Given the description of an element on the screen output the (x, y) to click on. 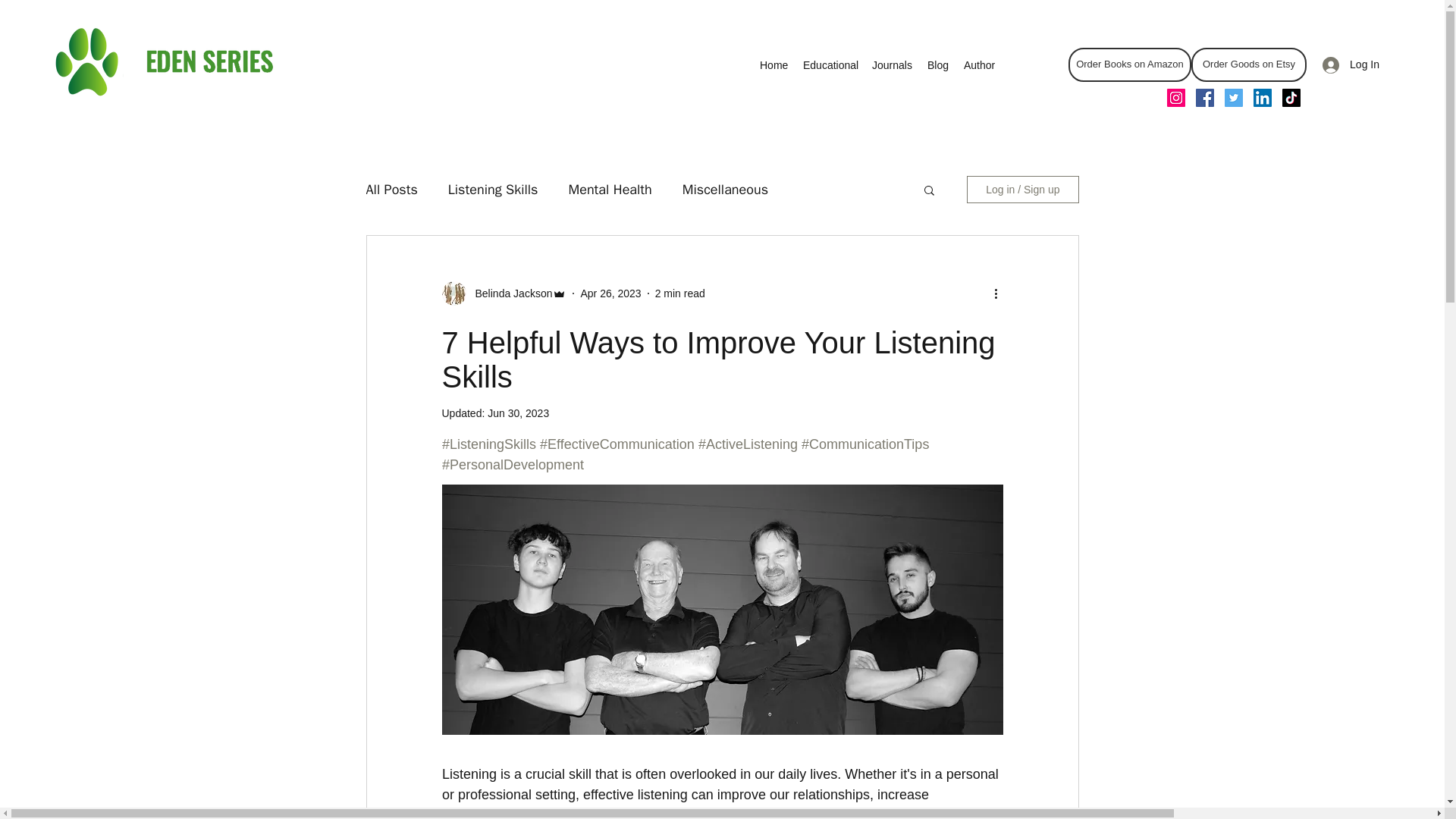
Journals (892, 65)
Eden Series (166, 60)
Order Goods on Etsy (1248, 64)
Educational (829, 65)
Order Books on Amazon (1129, 64)
Listening Skills (493, 189)
Blog (938, 65)
Author (979, 65)
Belinda Jackson (503, 293)
All Posts (390, 189)
Log In (1350, 64)
Belinda Jackson (508, 293)
Miscellaneous (725, 189)
Mental Health (608, 189)
Jun 30, 2023 (517, 413)
